Given the description of an element on the screen output the (x, y) to click on. 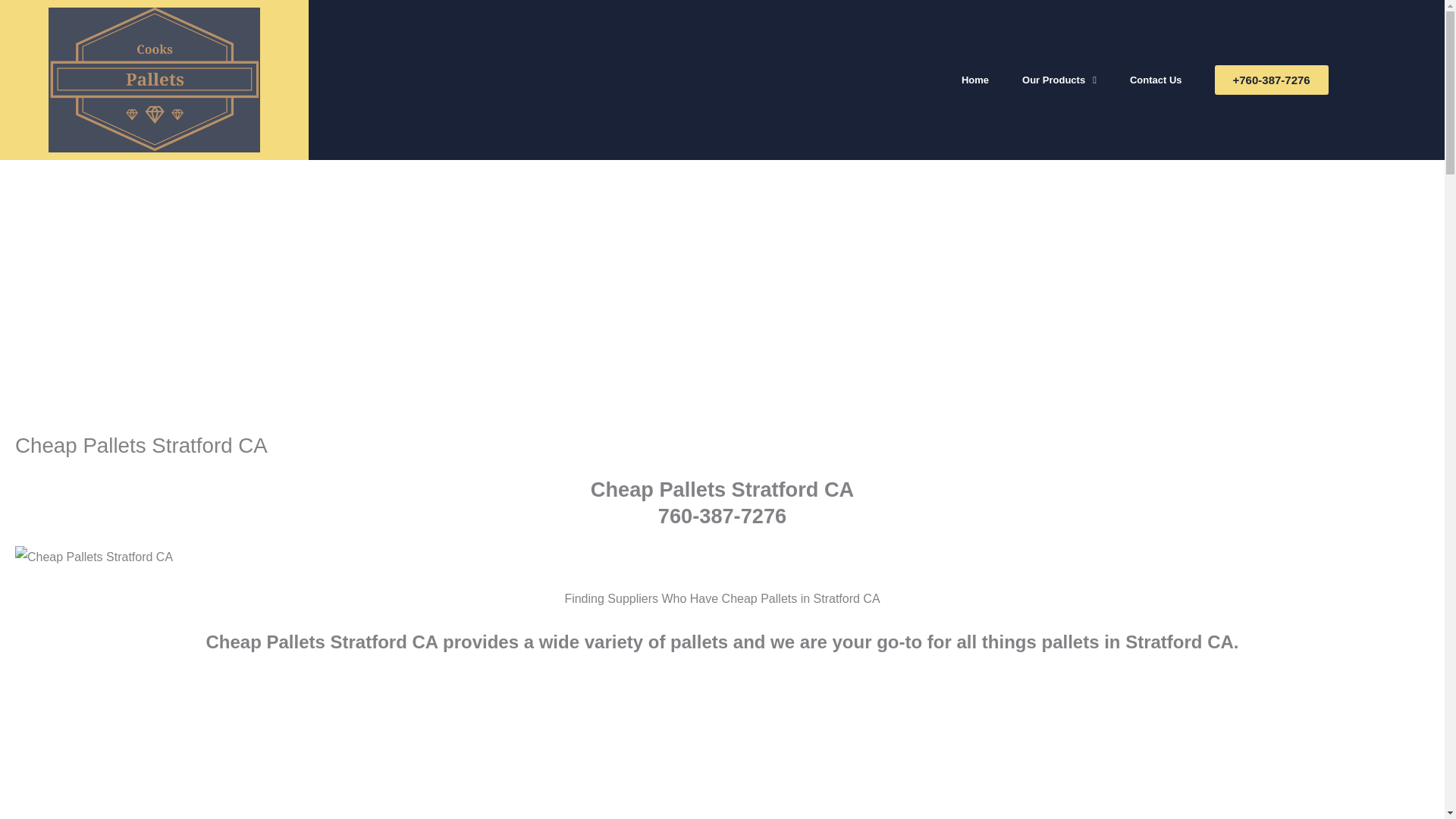
pallet (93, 557)
Contact Us (1155, 79)
Home (975, 79)
Our Products (1059, 79)
